Given the description of an element on the screen output the (x, y) to click on. 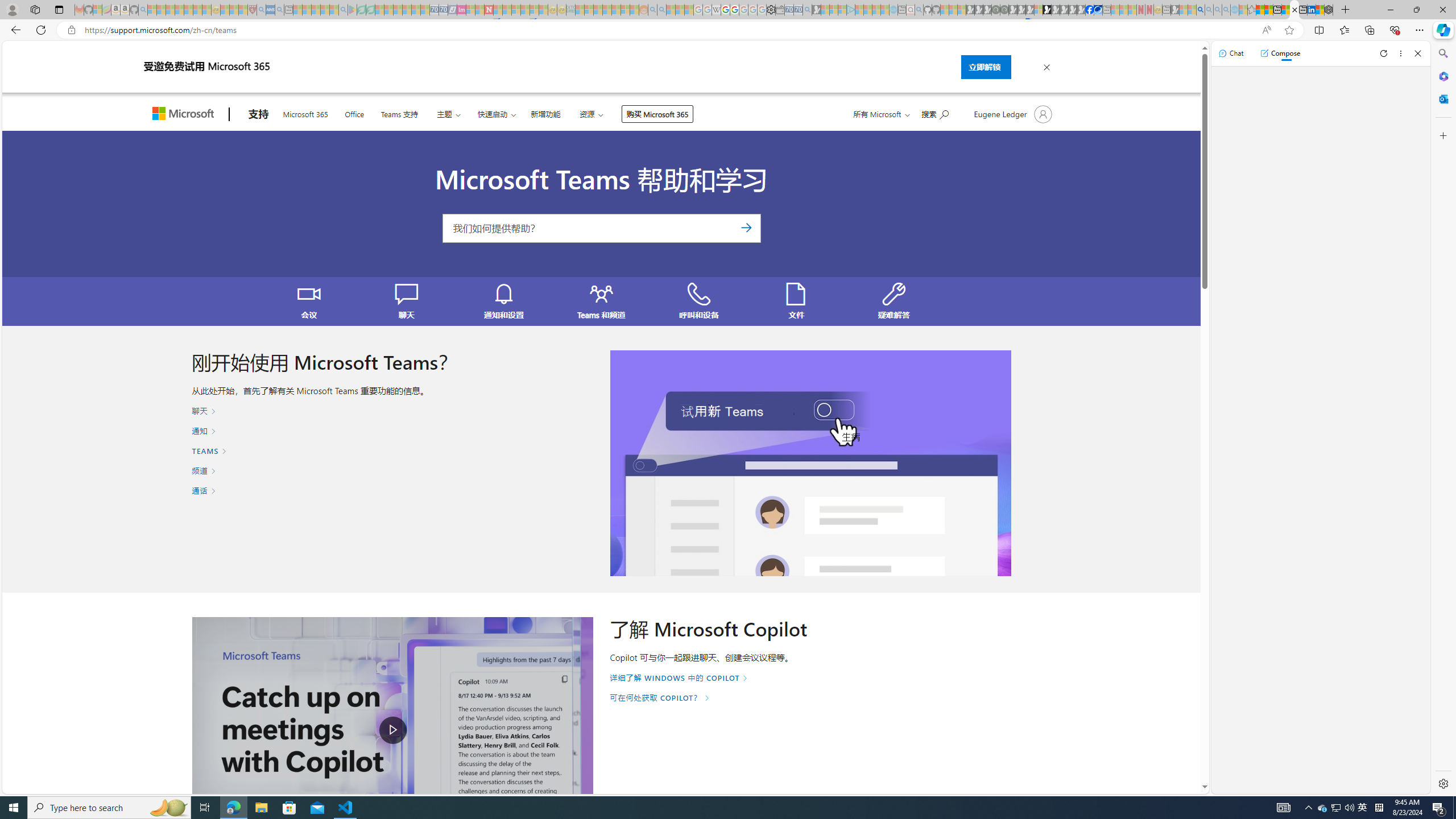
Privacy Help Center - Policies Help (725, 9)
